Given the description of an element on the screen output the (x, y) to click on. 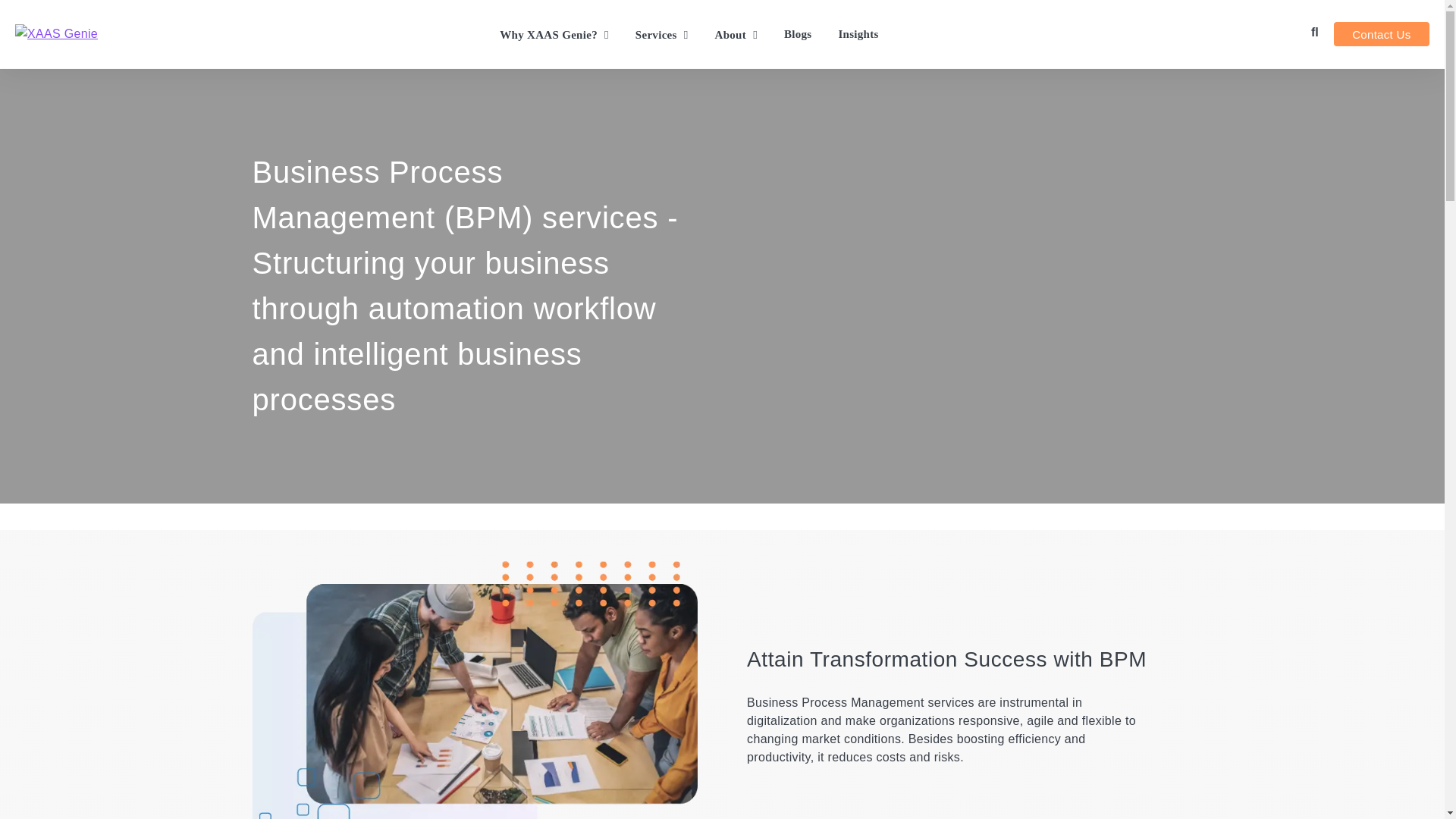
XAAS Genie (55, 34)
Why XAAS Genie? (553, 36)
Insights (857, 35)
Blogs (798, 35)
Services (661, 36)
About (735, 36)
